Given the description of an element on the screen output the (x, y) to click on. 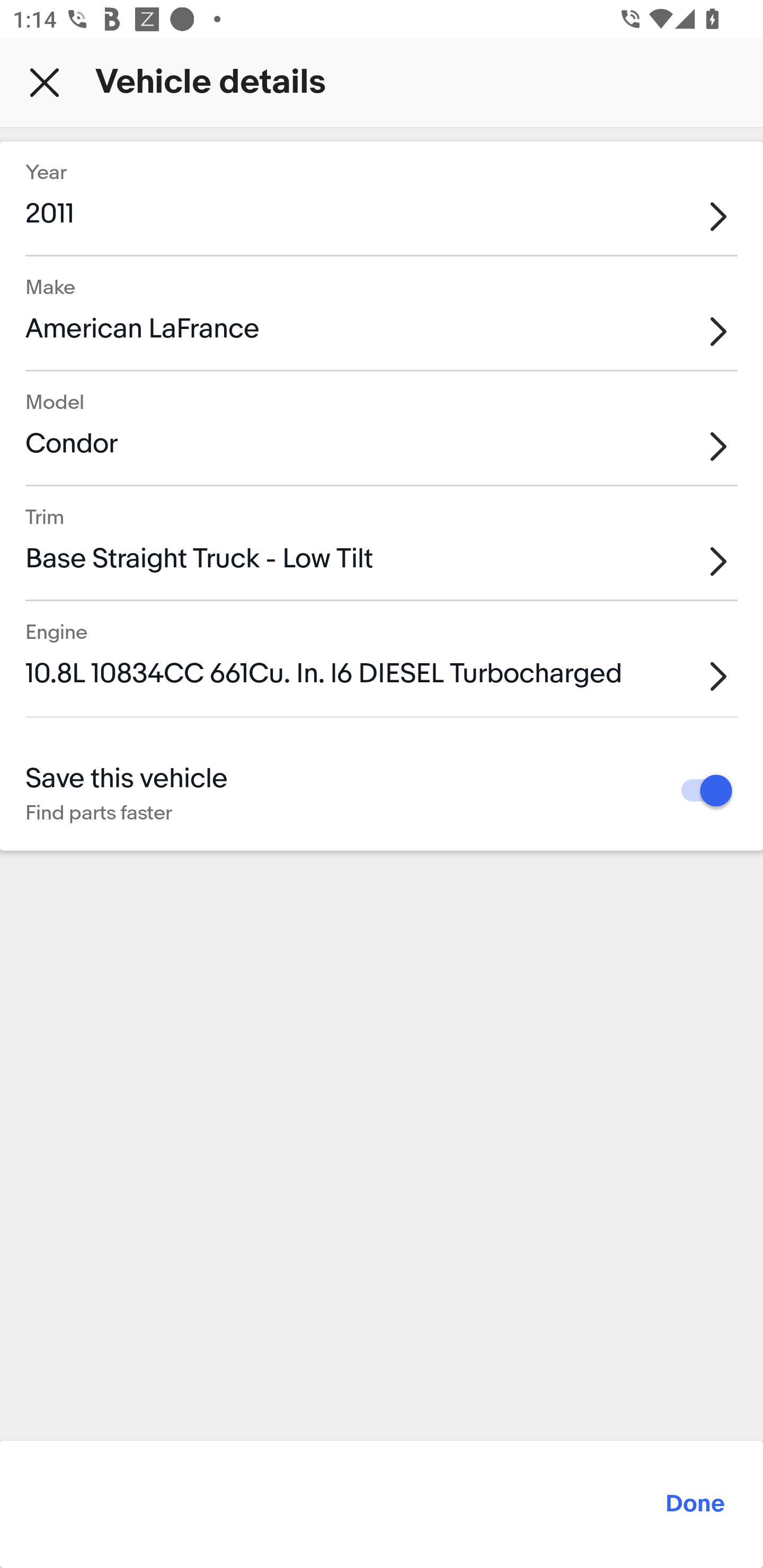
Close (44, 82)
Year 2011 2011 , Button (381, 197)
Make American LaFrance American LaFrance , Button (381, 313)
Model Condor Condor , Button (381, 427)
Save this vehicle , Find parts faster (700, 790)
Done (381, 1504)
